Given the description of an element on the screen output the (x, y) to click on. 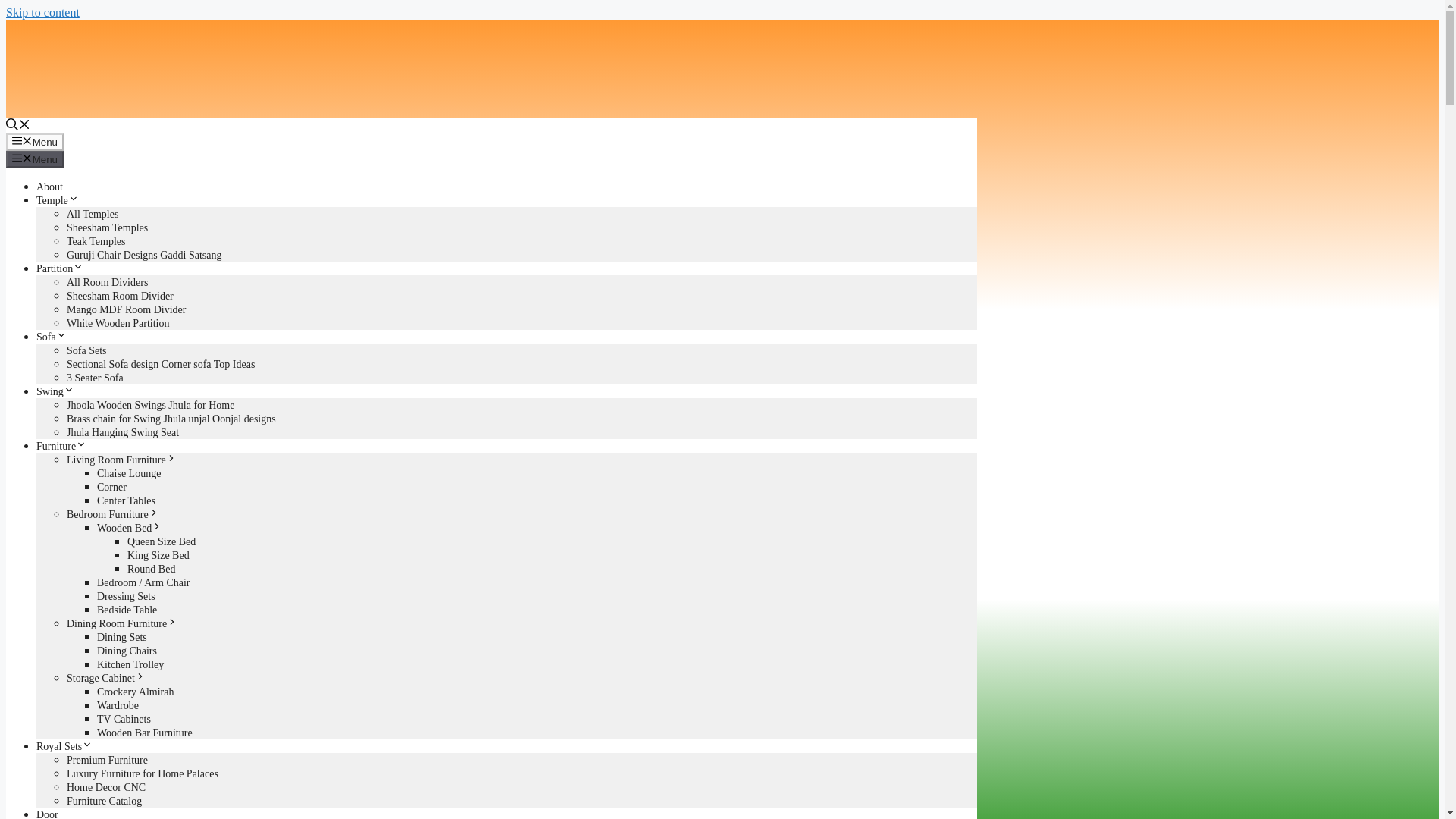
Jhula Hanging Swing Seat (122, 432)
Dining Chairs (127, 650)
Swing (55, 391)
Sofa Sets (86, 350)
Skip to content (42, 11)
Bedroom Furniture (112, 514)
Jhoola Wooden Swings Jhula for Home (150, 405)
Living Room Furniture (121, 460)
Menu (34, 141)
All Temples (91, 214)
Partition (59, 268)
Furniture (60, 446)
All Room Dividers (107, 282)
Mango MDF Room Divider (126, 309)
Menu (34, 158)
